Given the description of an element on the screen output the (x, y) to click on. 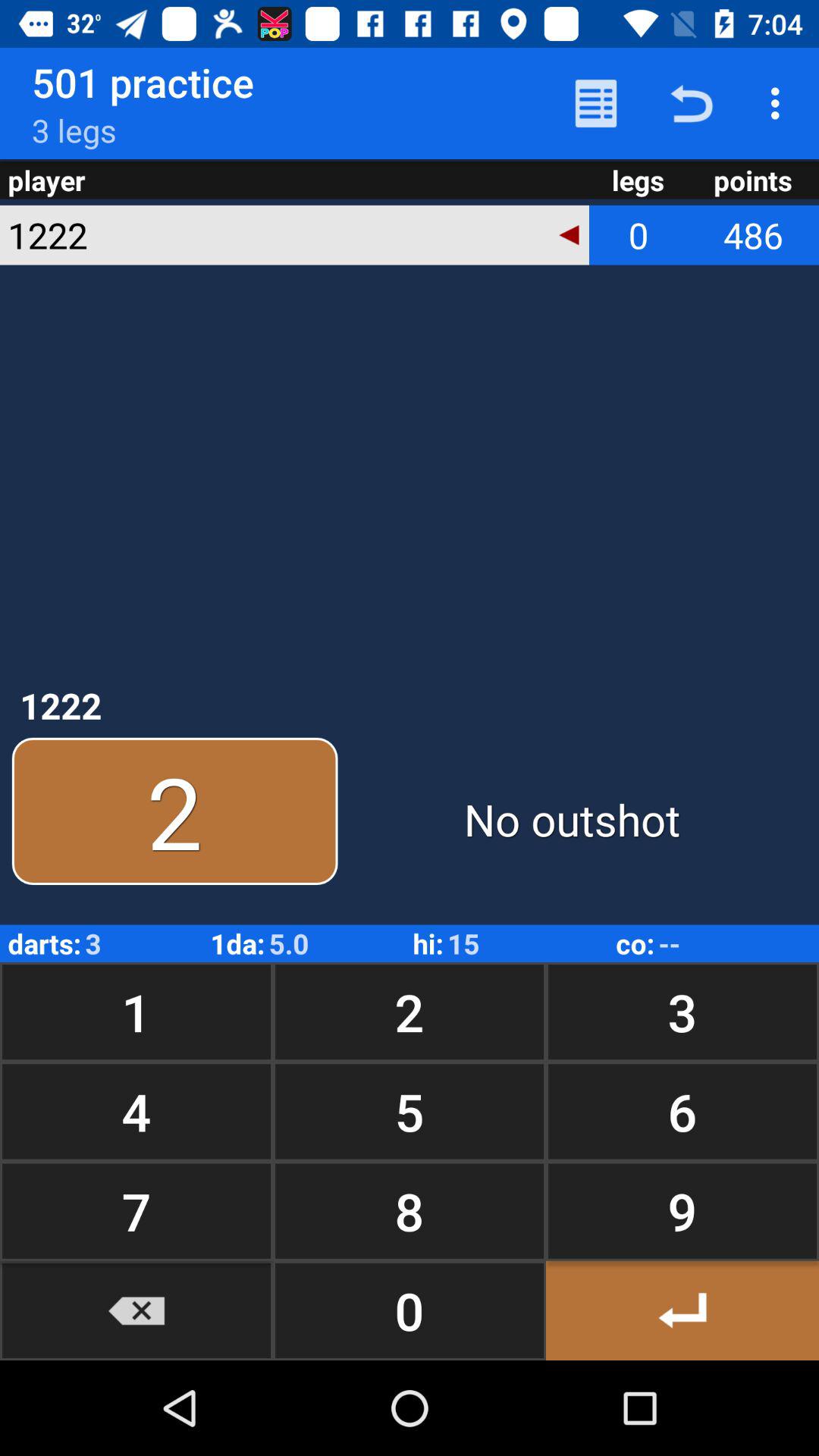
launch 8 button (409, 1210)
